Given the description of an element on the screen output the (x, y) to click on. 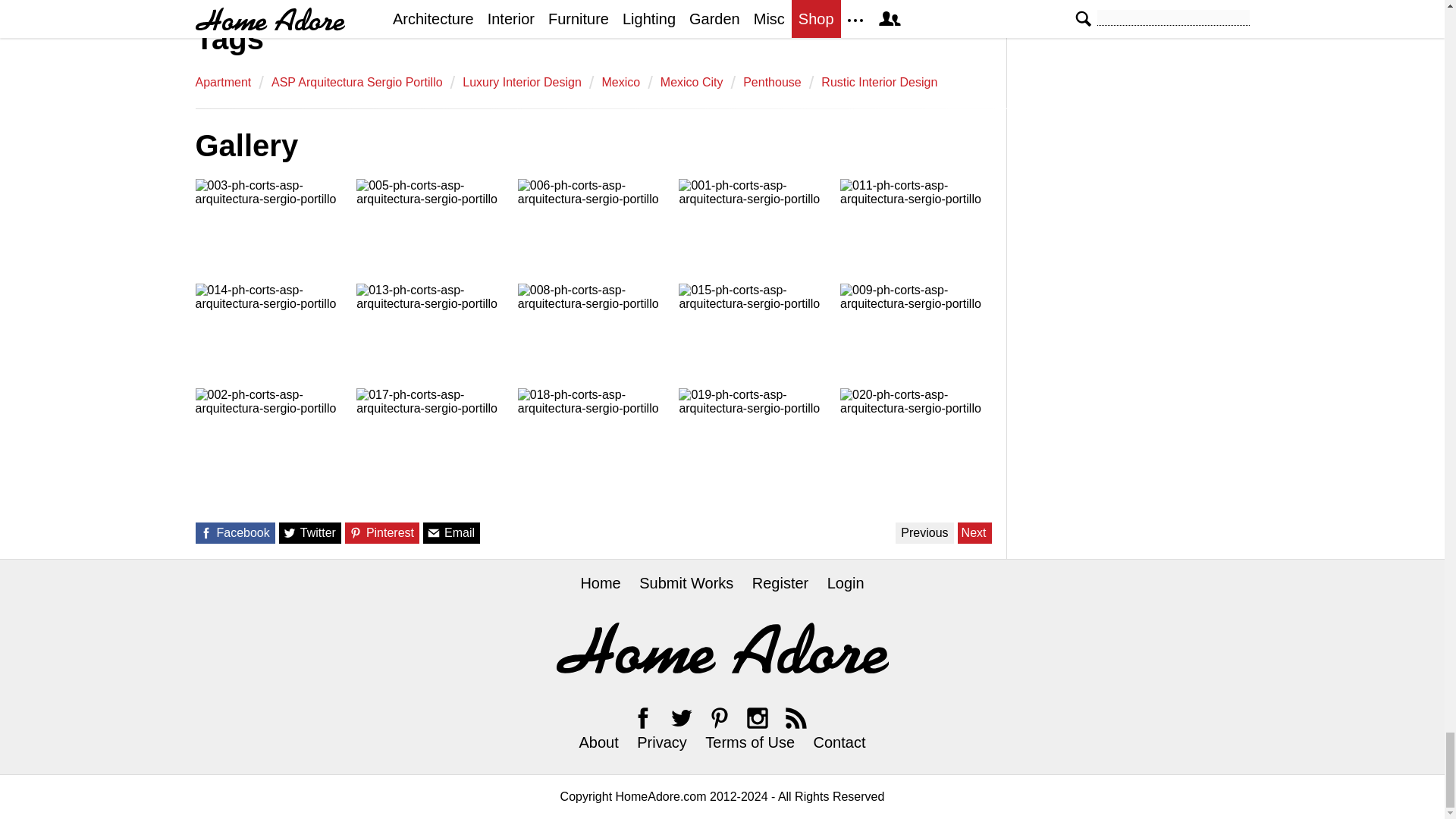
Luxury Interior Design (521, 82)
apartment (223, 82)
Share on Facebook (205, 532)
Twitter (681, 718)
Share on Twitter (289, 532)
Share with a Friend (433, 532)
mexico (620, 82)
Share on Pinterest (355, 532)
penthouse (772, 82)
Rustic Interior Design (879, 82)
